Given the description of an element on the screen output the (x, y) to click on. 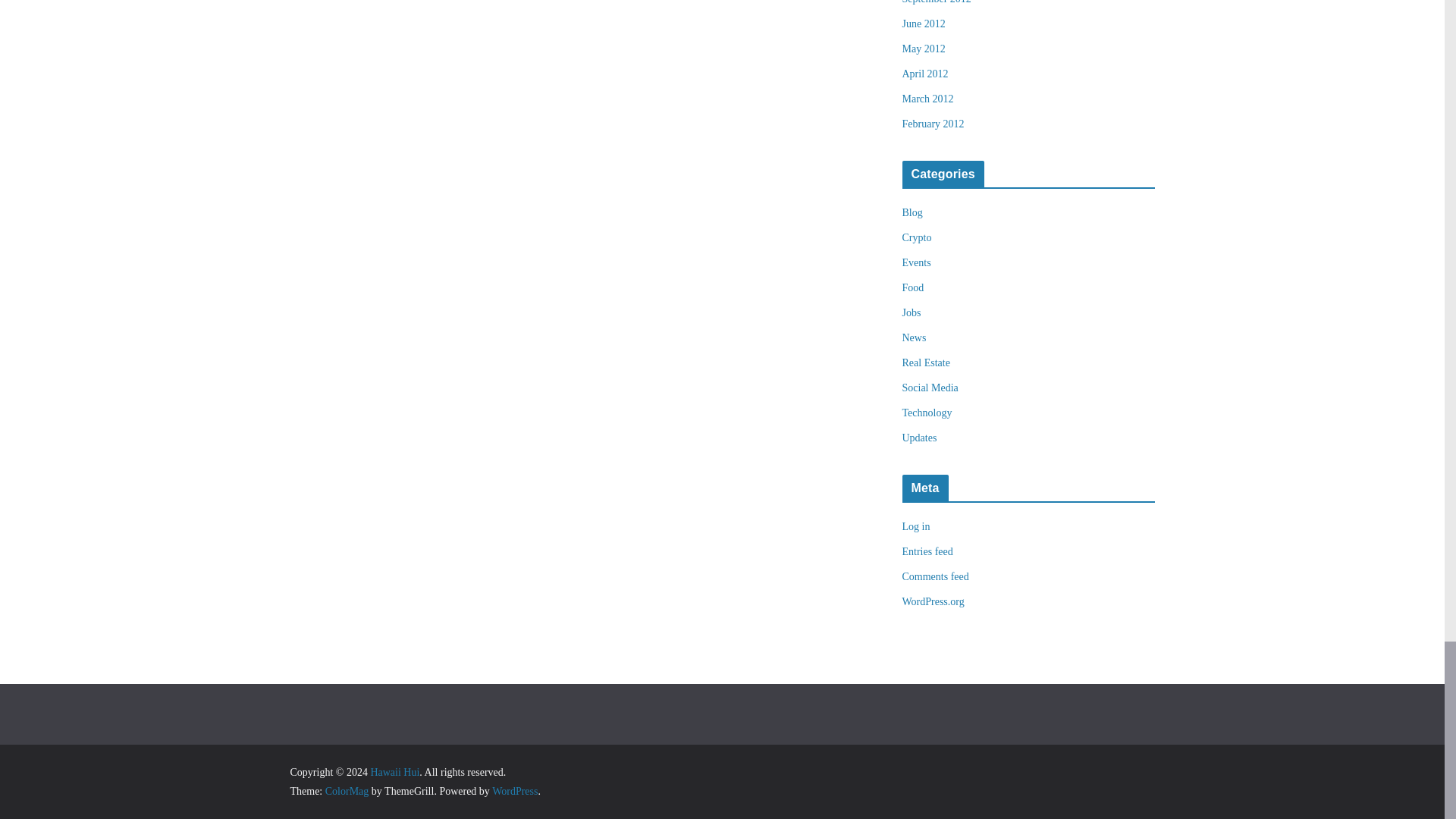
Hawaii Hui (394, 772)
ColorMag (346, 790)
WordPress (514, 790)
